Given the description of an element on the screen output the (x, y) to click on. 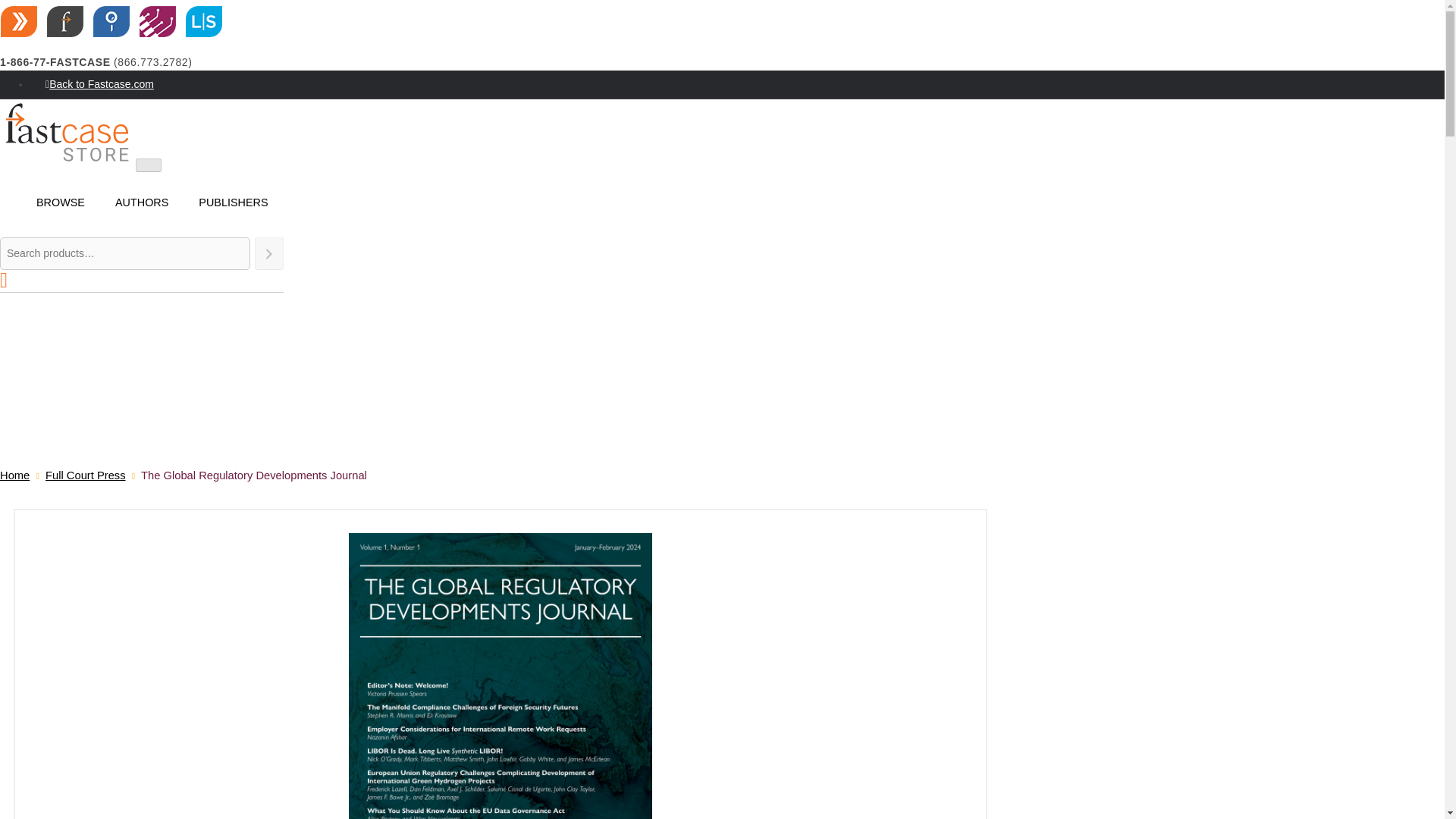
Home (14, 475)
PUBLISHERS (232, 202)
AUTHORS (141, 202)
BROWSE (60, 202)
Back to Fastcase.com (737, 84)
Full Court Press (85, 475)
